Given the description of an element on the screen output the (x, y) to click on. 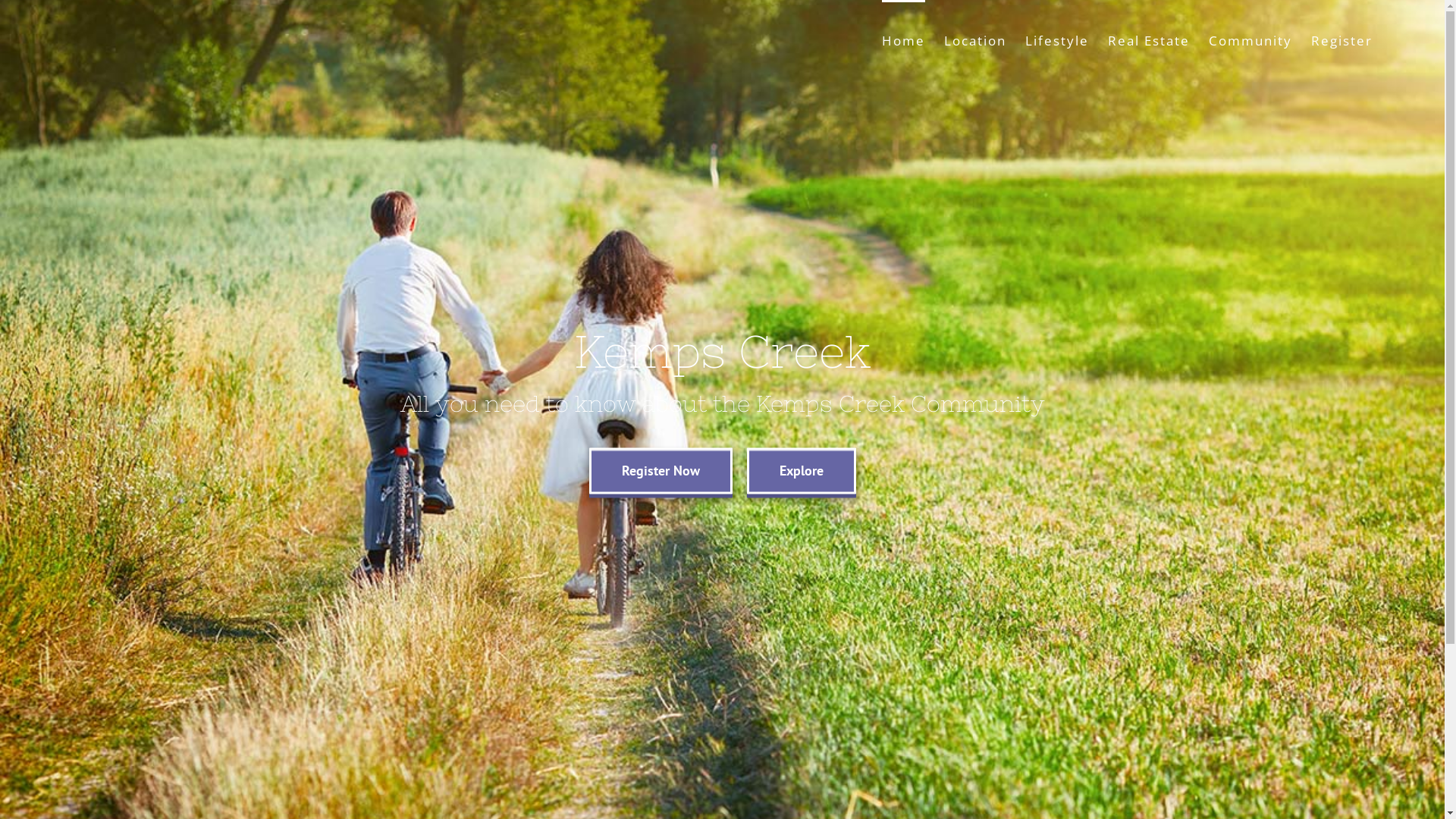
Lifestyle Element type: text (1056, 39)
Home Element type: text (903, 39)
Location Element type: text (975, 39)
Register Now Element type: text (659, 471)
Register Element type: text (1341, 39)
Real Estate Element type: text (1148, 39)
Explore Element type: text (800, 471)
Community Element type: text (1250, 39)
